Given the description of an element on the screen output the (x, y) to click on. 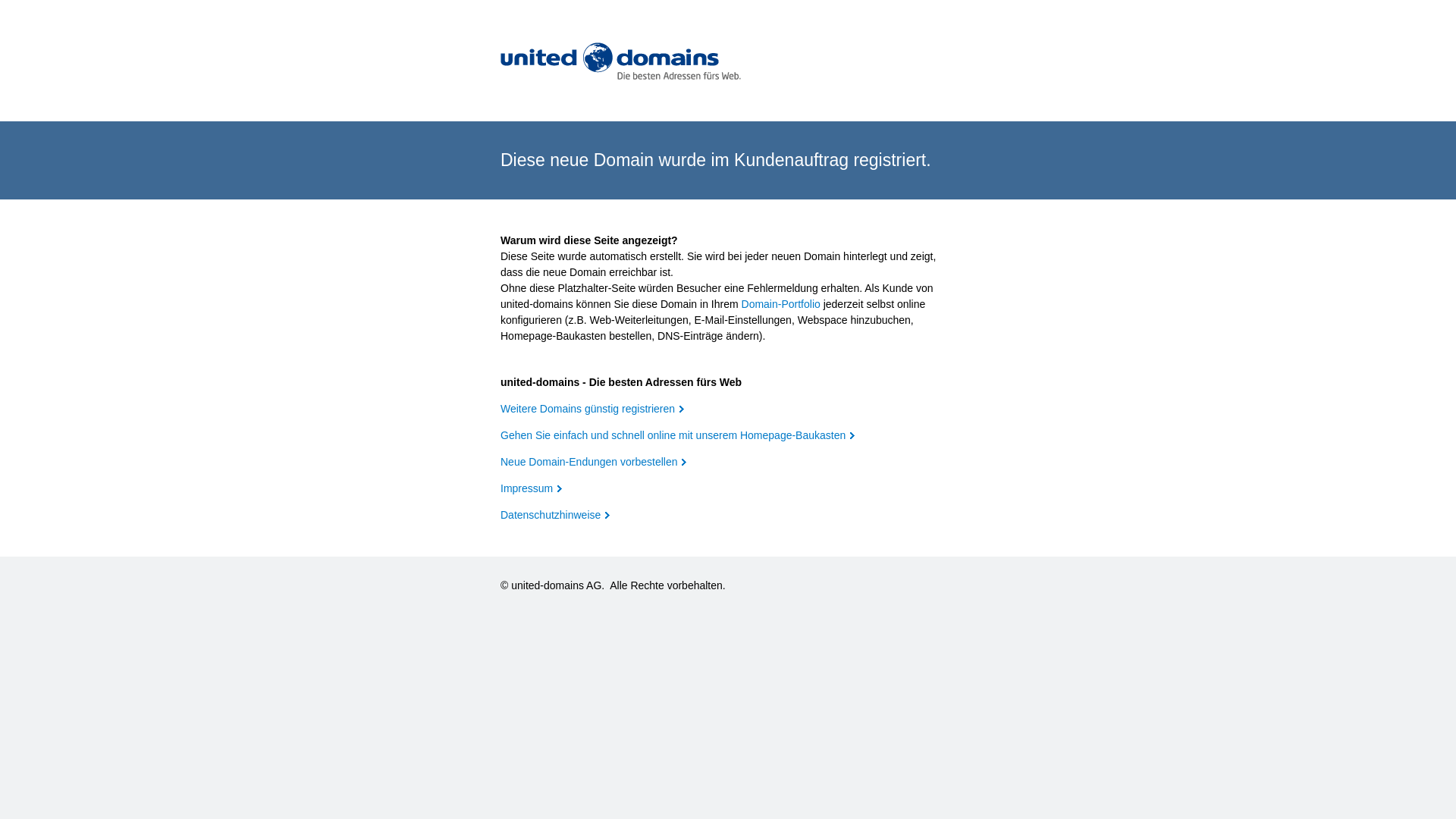
Impressum Element type: text (530, 488)
Datenschutzhinweise Element type: text (554, 514)
Neue Domain-Endungen vorbestellen Element type: text (593, 461)
Domain-Portfolio Element type: text (780, 304)
